Given the description of an element on the screen output the (x, y) to click on. 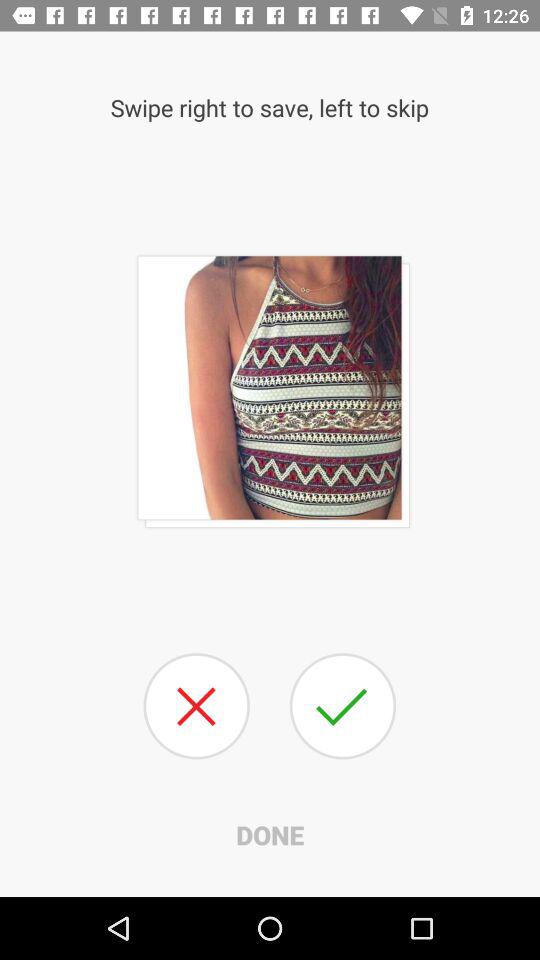
skip the article (196, 705)
